Given the description of an element on the screen output the (x, y) to click on. 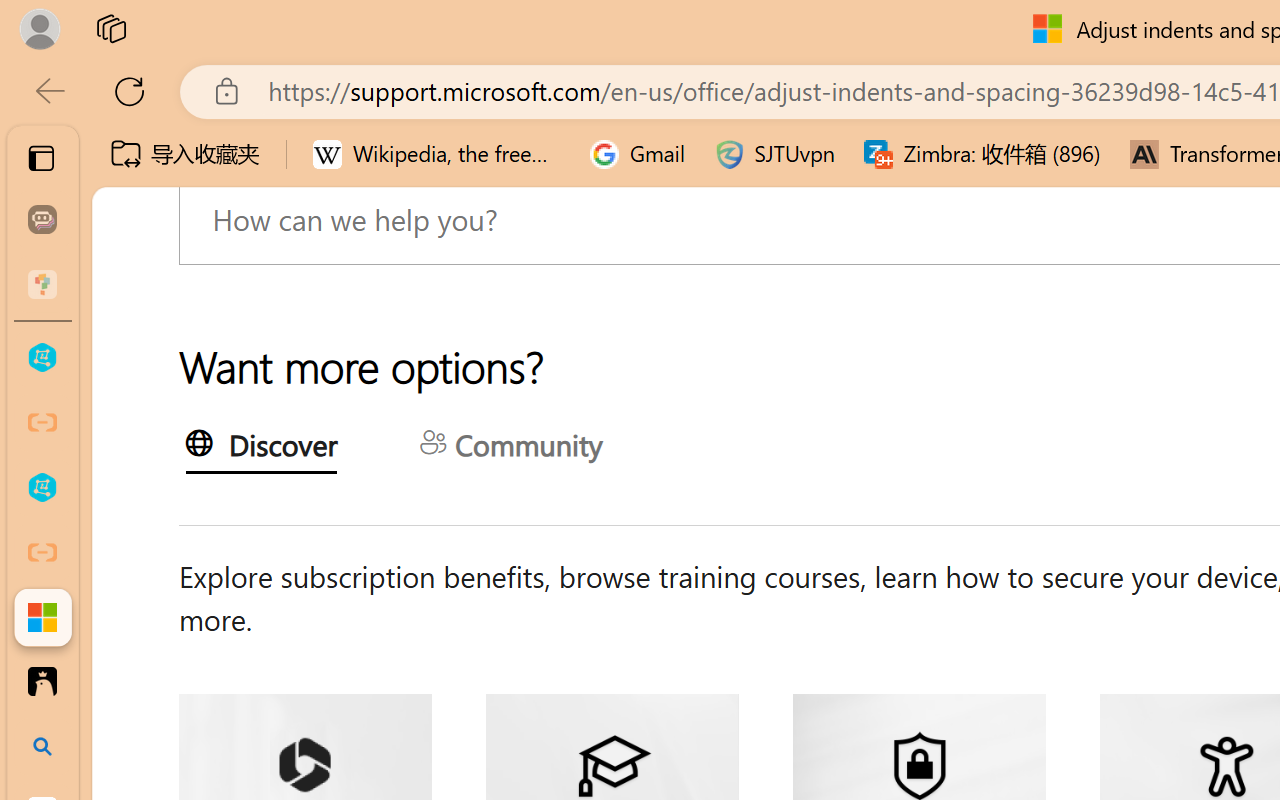
Discover (260, 449)
SJTUvpn (774, 154)
wangyian_webcrawler - DSW (42, 487)
Wikipedia, the free encyclopedia (437, 154)
Gmail (637, 154)
wangyian_dsw - DSW (42, 357)
